Given the description of an element on the screen output the (x, y) to click on. 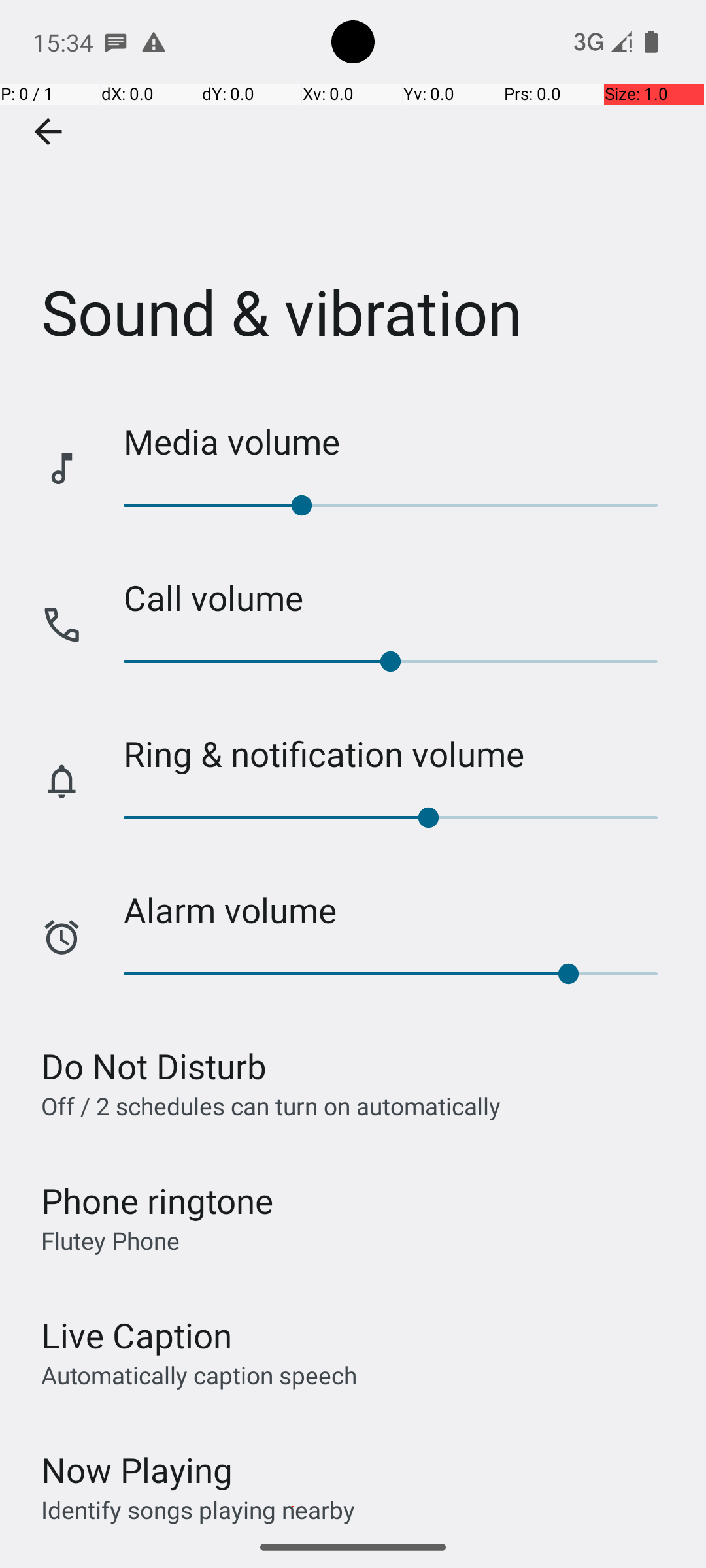
Media volume Element type: android.widget.TextView (400, 441)
Call volume Element type: android.widget.TextView (400, 597)
Ring & notification volume Element type: android.widget.TextView (400, 753)
Alarm volume Element type: android.widget.TextView (400, 909)
Off / 2 schedules can turn on automatically Element type: android.widget.TextView (270, 1105)
Automatically caption speech Element type: android.widget.TextView (199, 1374)
Now Playing Element type: android.widget.TextView (136, 1469)
Identify songs playing nearby Element type: android.widget.TextView (197, 1509)
